Given the description of an element on the screen output the (x, y) to click on. 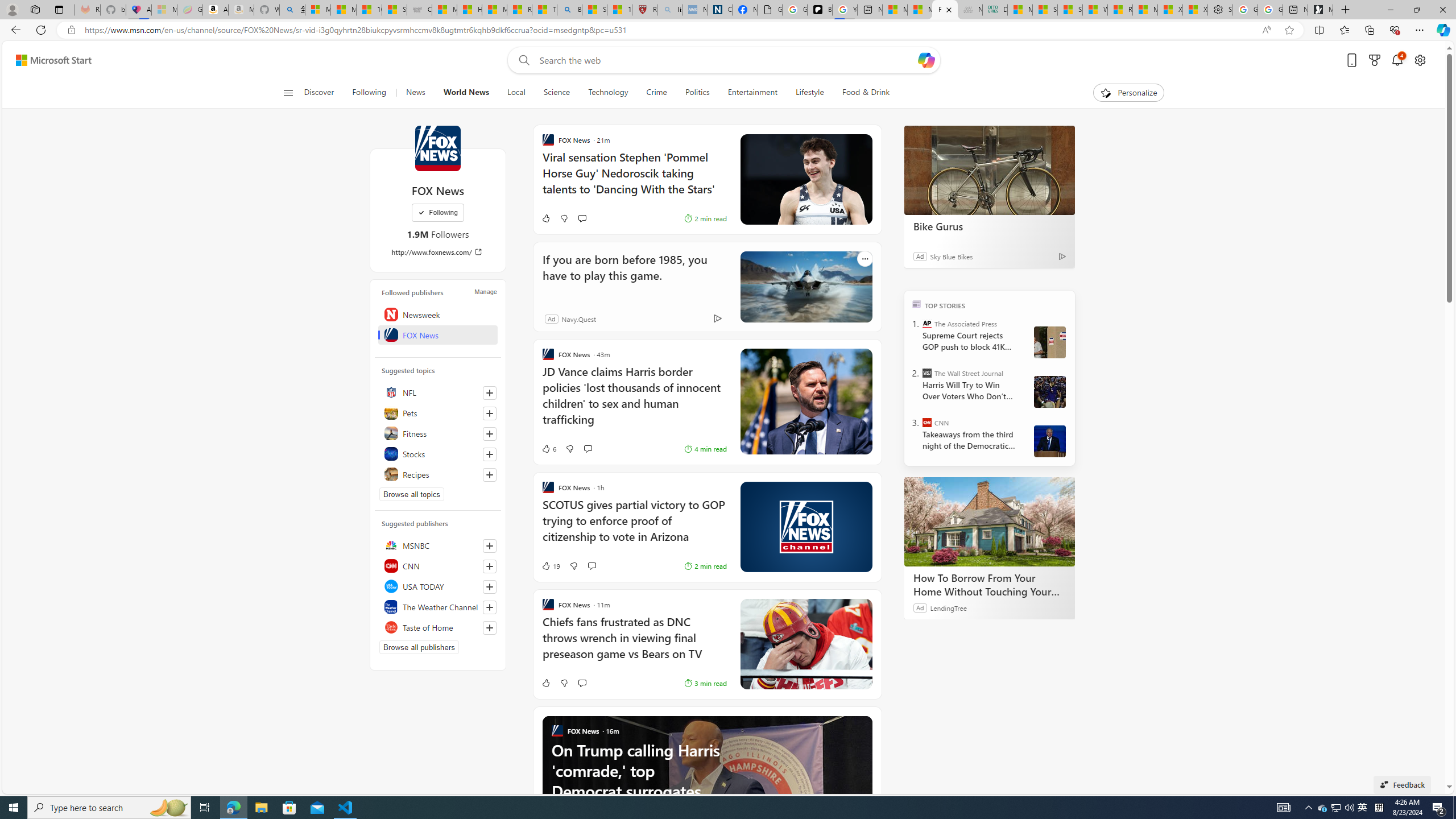
Bing (568, 9)
